Given the description of an element on the screen output the (x, y) to click on. 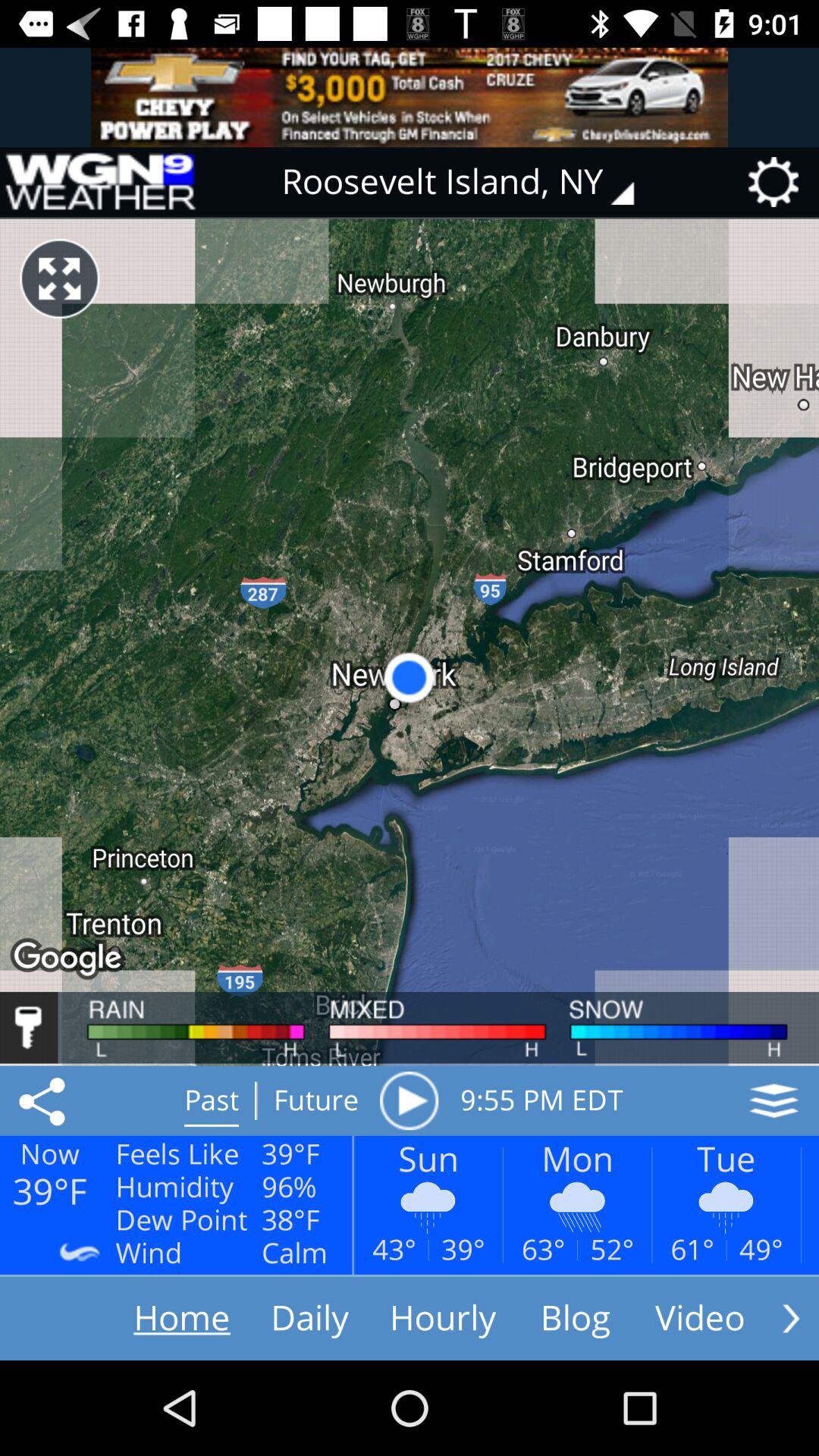
view more options (791, 1318)
